Given the description of an element on the screen output the (x, y) to click on. 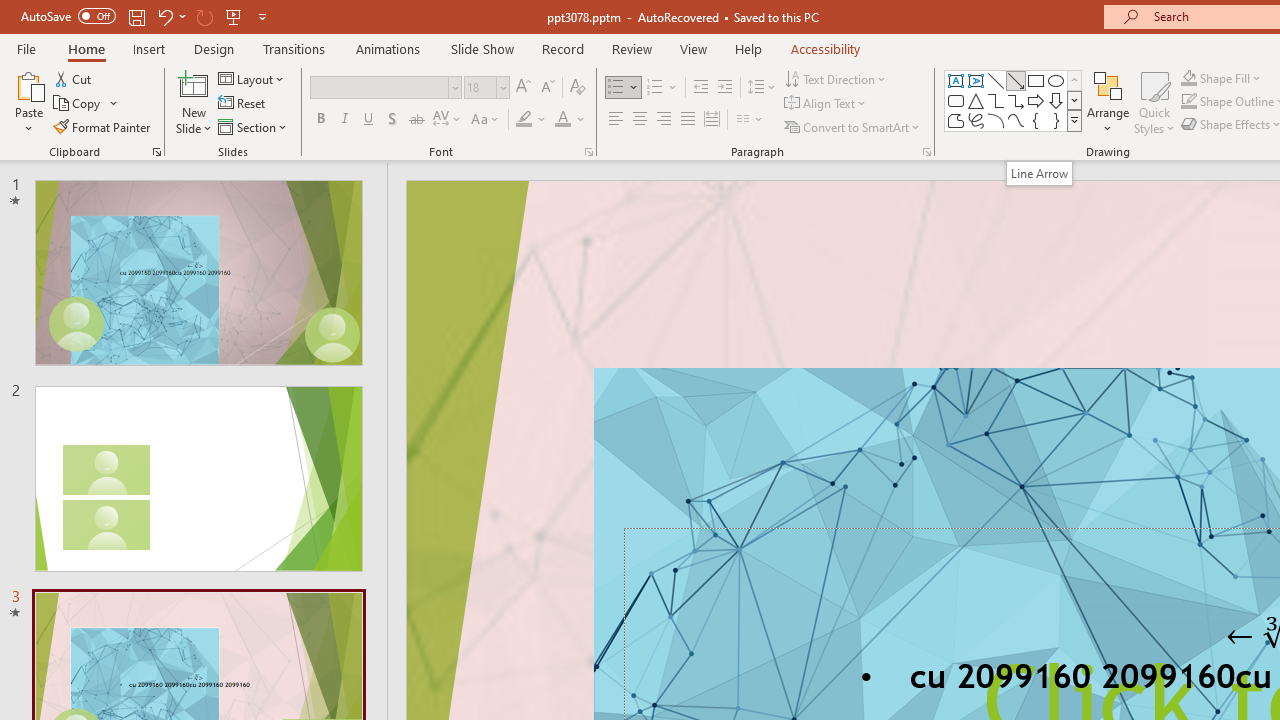
Right Brace (1055, 120)
Font Color Red (562, 119)
Office Clipboard... (156, 151)
Paragraph... (926, 151)
Vertical Text Box (975, 80)
Shape Outline Green, Accent 1 (1188, 101)
